Given the description of an element on the screen output the (x, y) to click on. 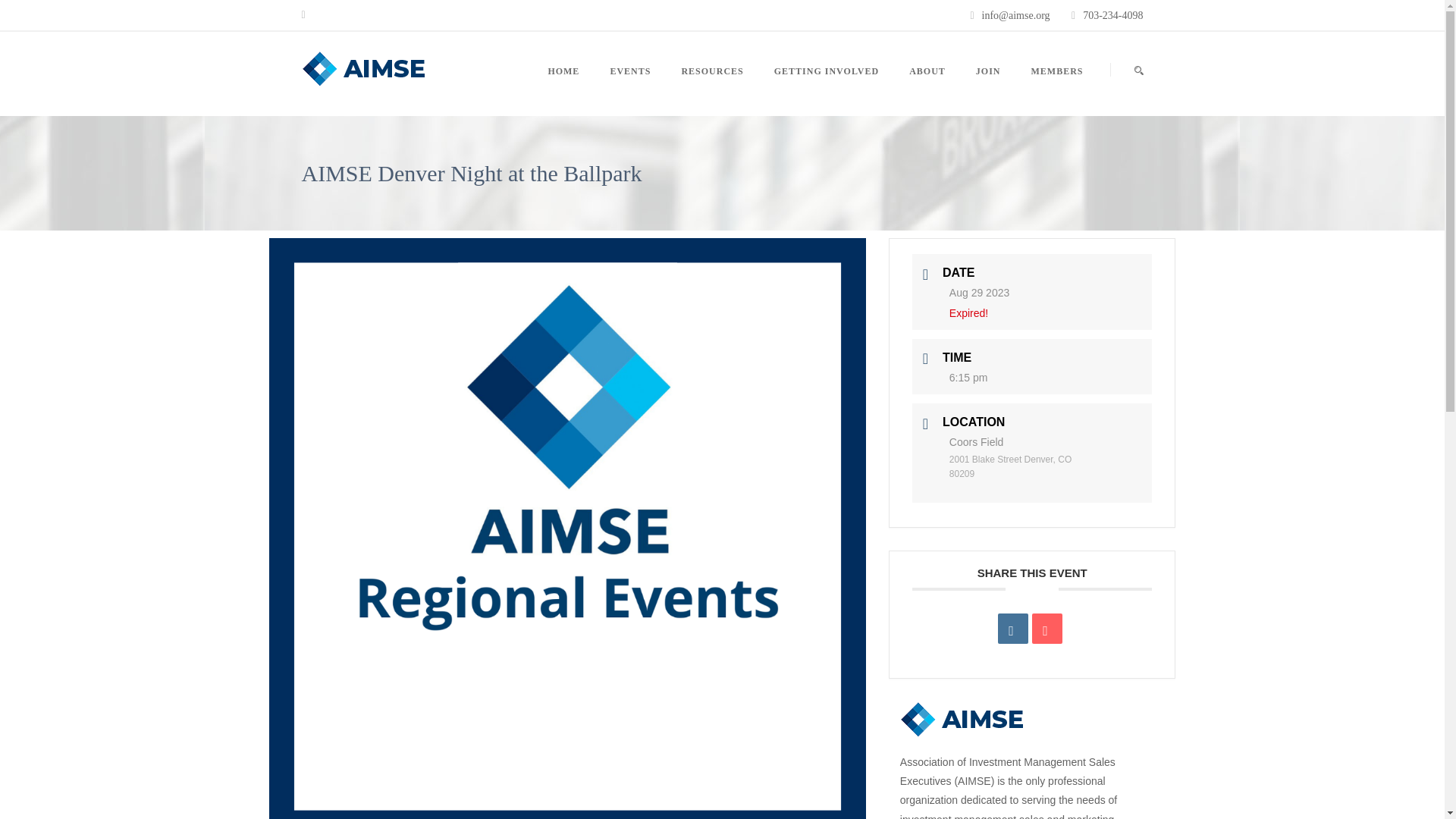
703-234-4098 (1112, 15)
Linkedin (1012, 628)
Email (1047, 628)
HOME (570, 89)
EVENTS (629, 89)
